Given the description of an element on the screen output the (x, y) to click on. 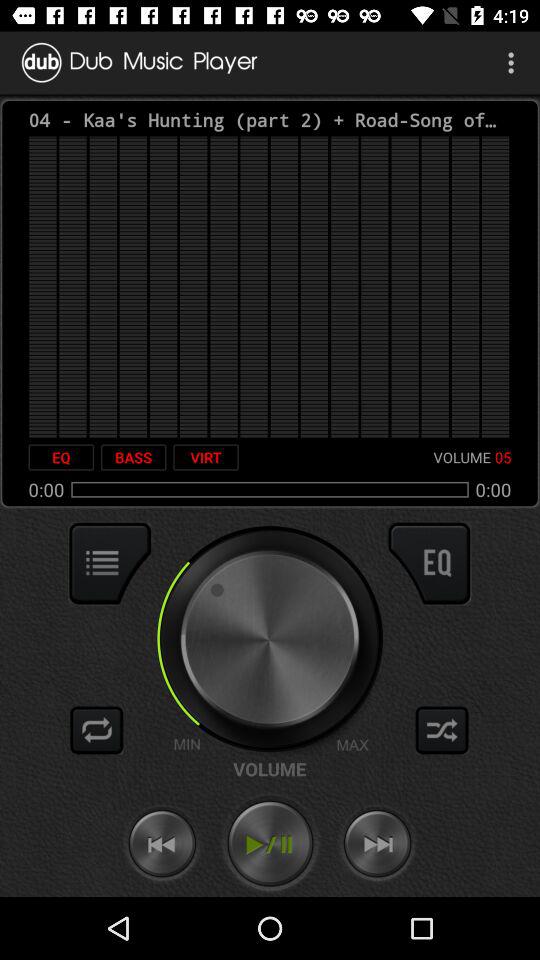
open bass  icon (133, 457)
